Given the description of an element on the screen output the (x, y) to click on. 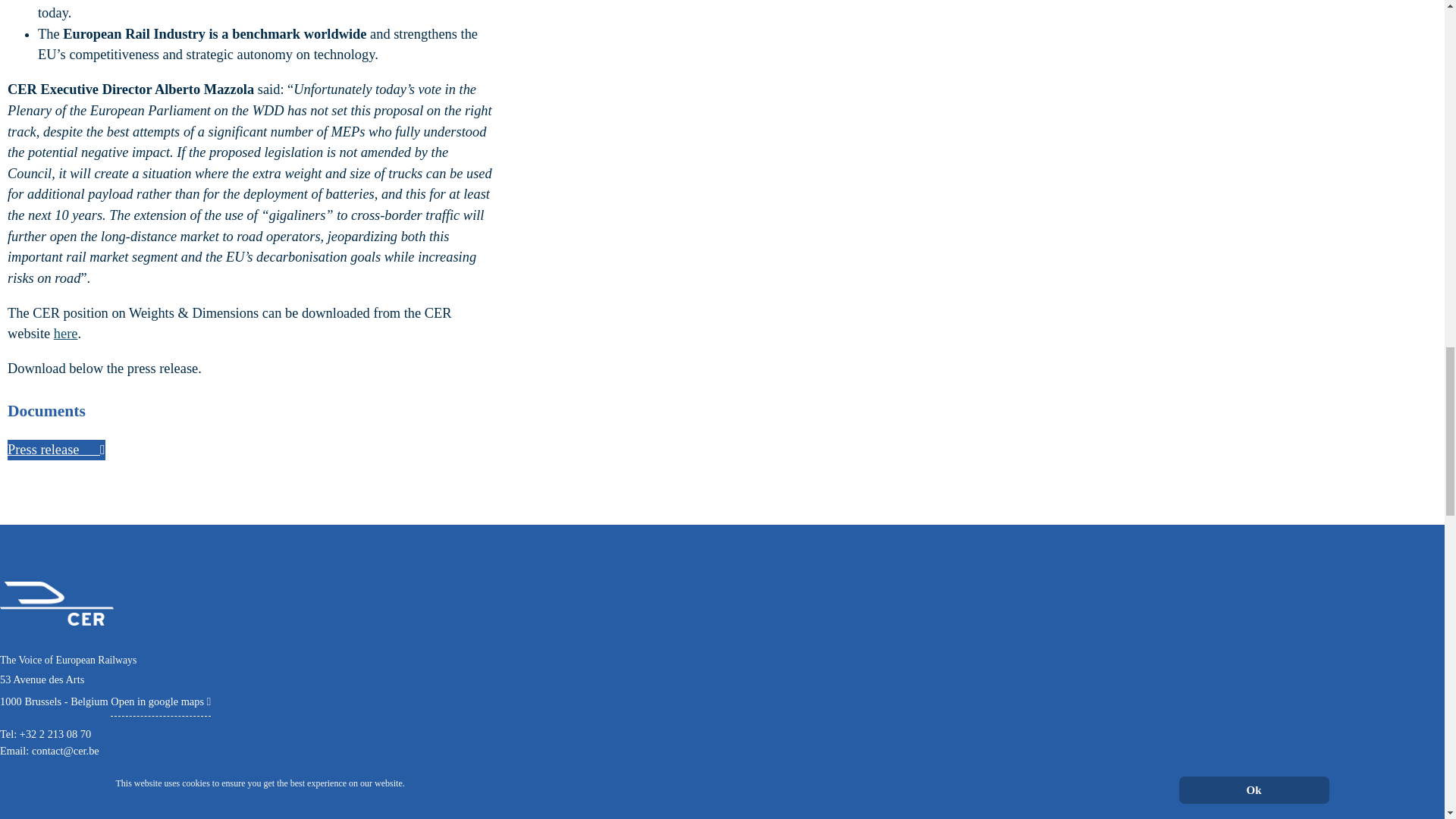
e.dso linkedin (45, 785)
Open in google maps (160, 701)
Press release       (55, 450)
e.dso youtube (75, 785)
here (65, 333)
e.dso twitter (15, 785)
